Given the description of an element on the screen output the (x, y) to click on. 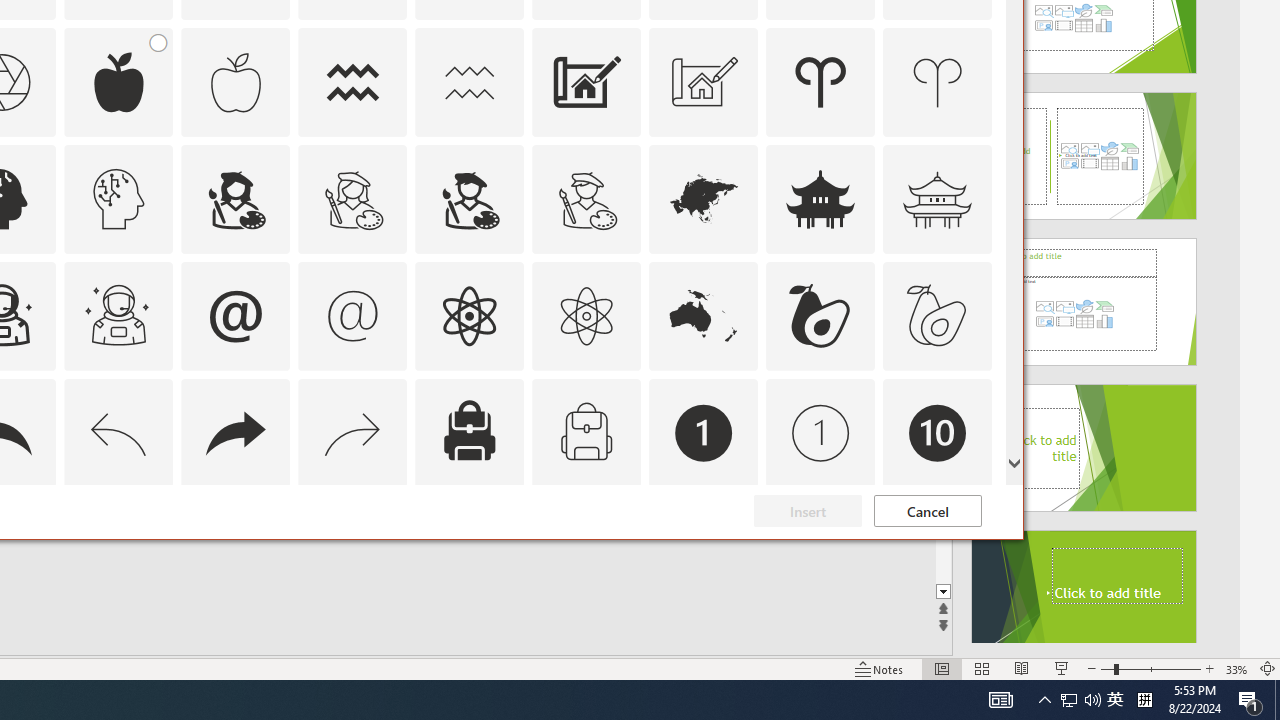
AutomationID: Icons_Atom_M (586, 316)
AutomationID: Icons_Badge7_M (469, 550)
AutomationID: Icons_Apple_M (235, 82)
AutomationID: Icons_ArtistFemale (235, 198)
AutomationID: Icons_Aquarius_M (469, 82)
AutomationID: Icons_ArtificialIntelligence_M (118, 198)
AutomationID: Icons_Back_RTL_M (353, 432)
